Given the description of an element on the screen output the (x, y) to click on. 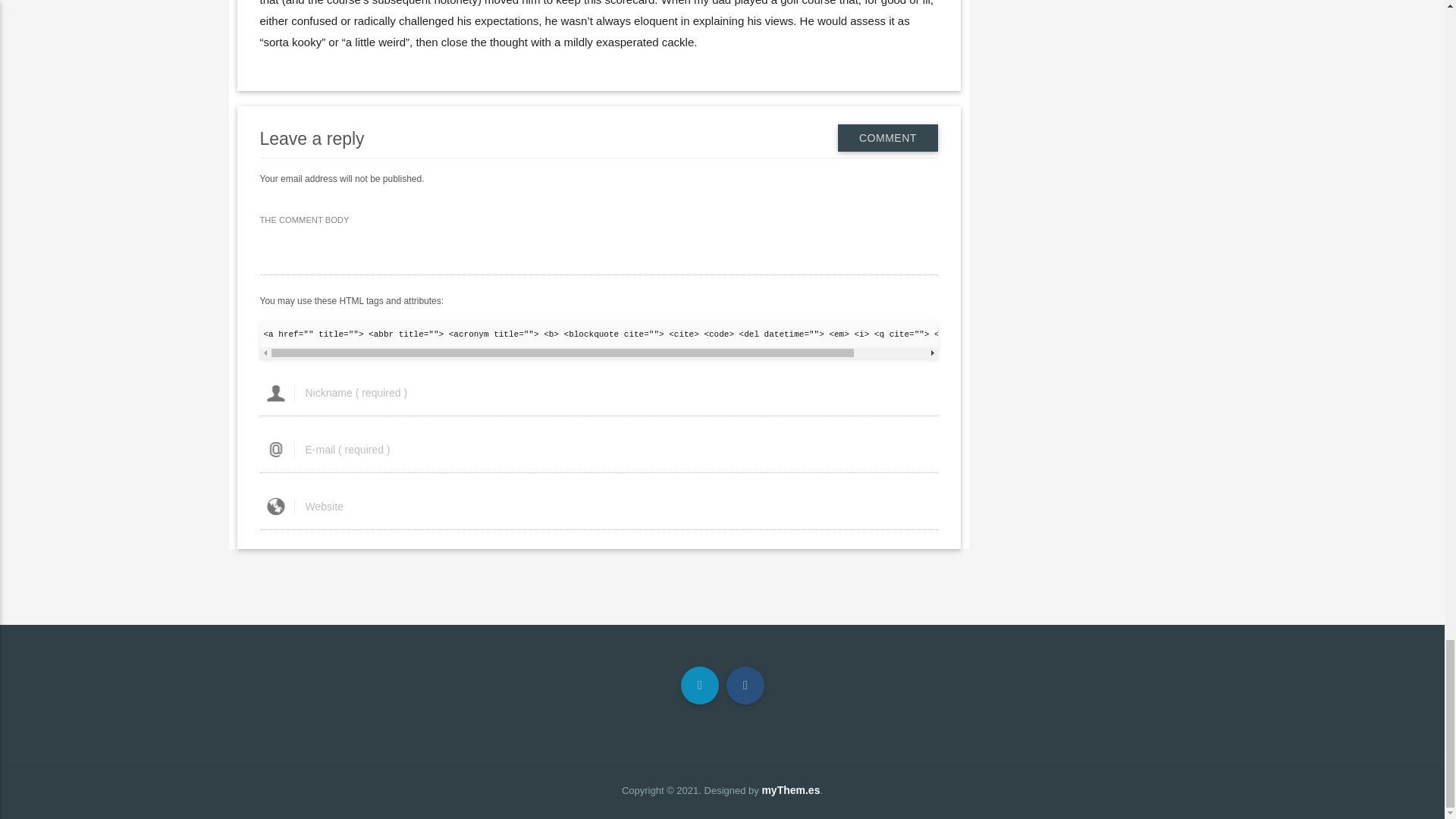
myThem.es (790, 789)
Website (598, 506)
COMMENT (887, 137)
